Given the description of an element on the screen output the (x, y) to click on. 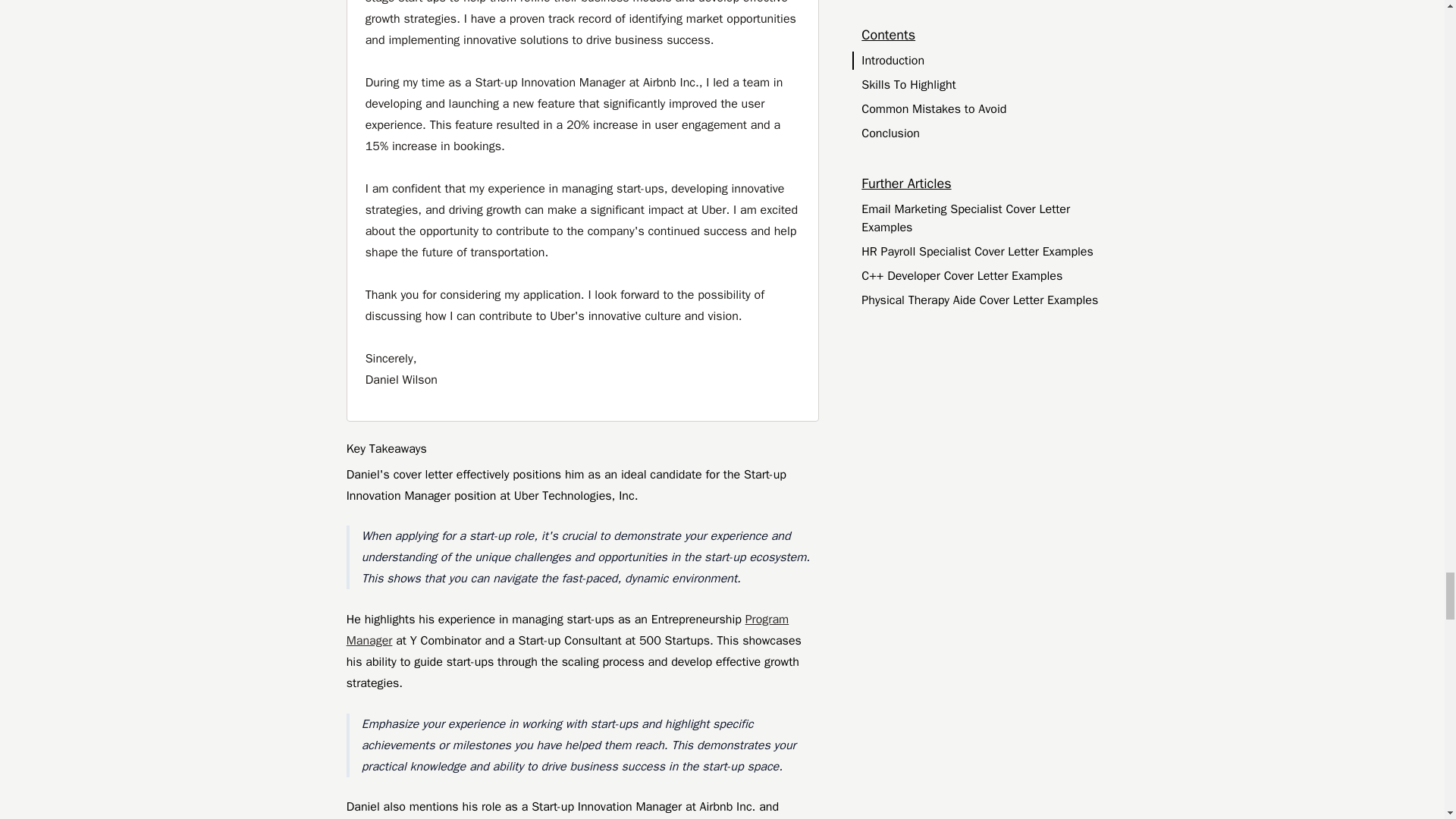
Program Manager (567, 629)
